Given the description of an element on the screen output the (x, y) to click on. 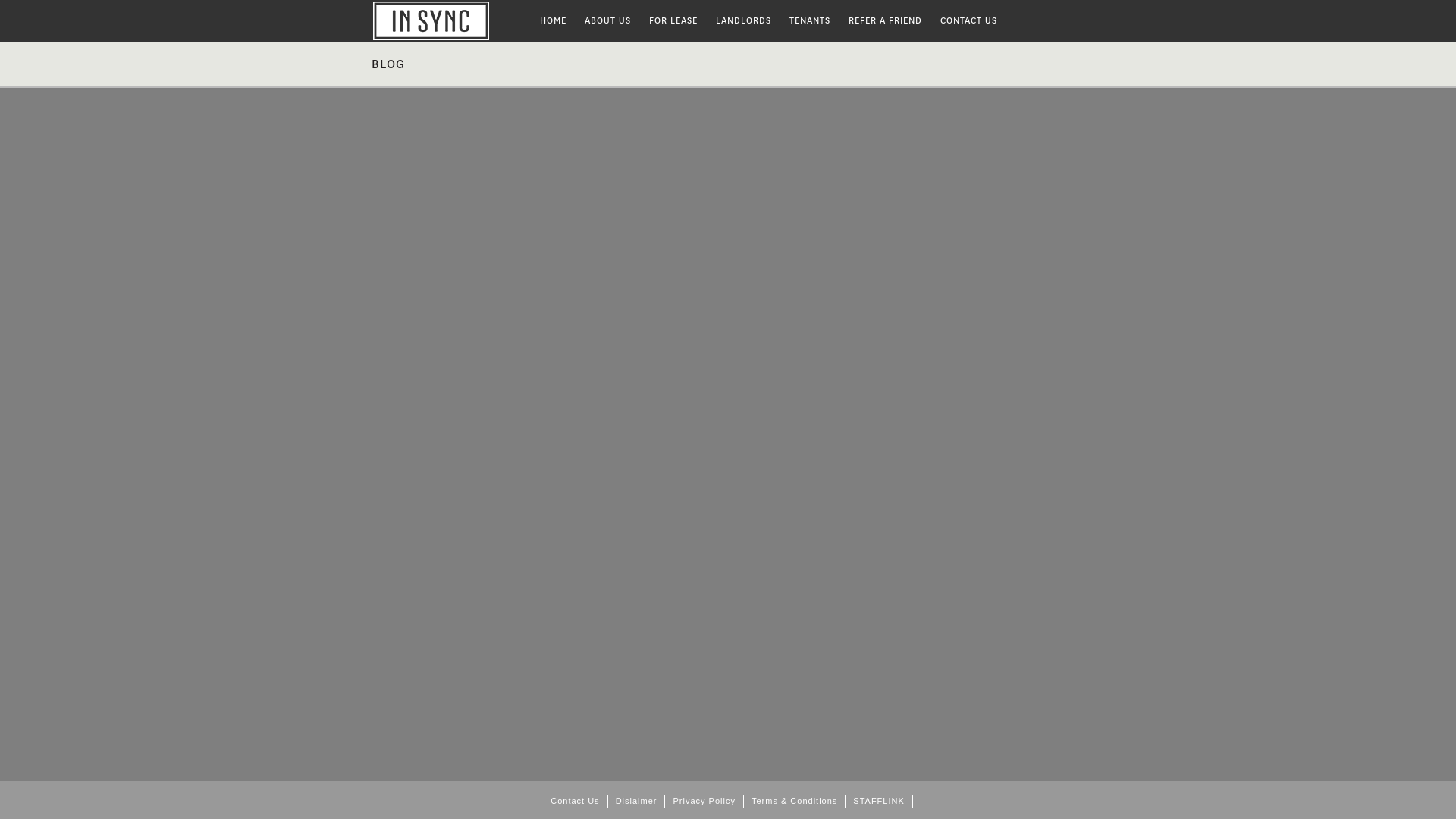
HOME Element type: text (450, 21)
STAFFLINK Element type: text (878, 800)
LANDLORDS Element type: text (743, 21)
CONTACT US Element type: text (968, 21)
Dislaimer Element type: text (636, 800)
Privacy Policy Element type: text (704, 800)
ABOUT US Element type: text (607, 21)
FOR LEASE Element type: text (673, 21)
Terms & Conditions Element type: text (794, 800)
Contact Us Element type: text (574, 800)
TENANTS Element type: text (809, 21)
REFER A FRIEND Element type: text (885, 21)
HOME Element type: text (552, 21)
